Given the description of an element on the screen output the (x, y) to click on. 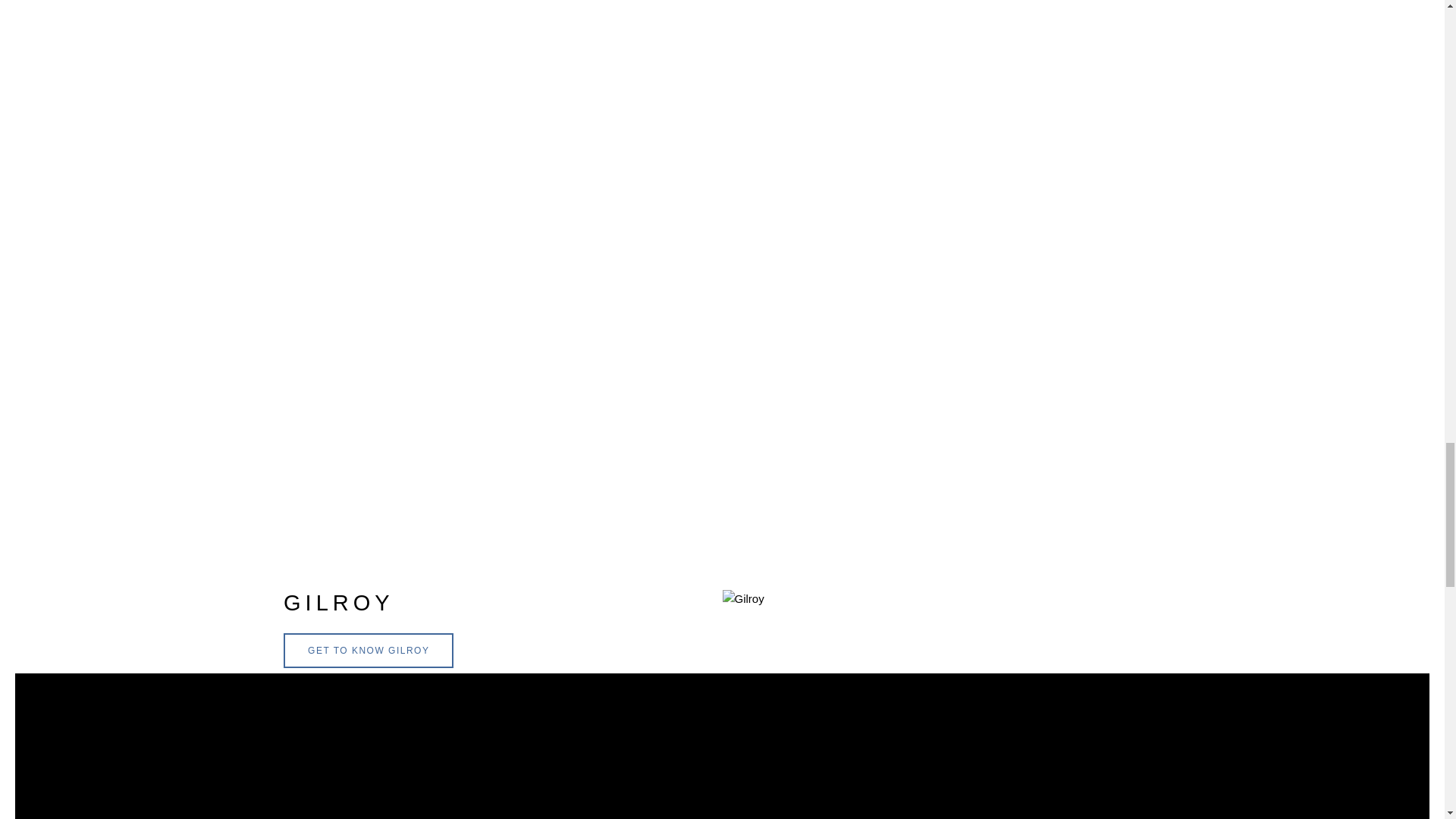
GET TO KNOW GILROY (367, 650)
